Given the description of an element on the screen output the (x, y) to click on. 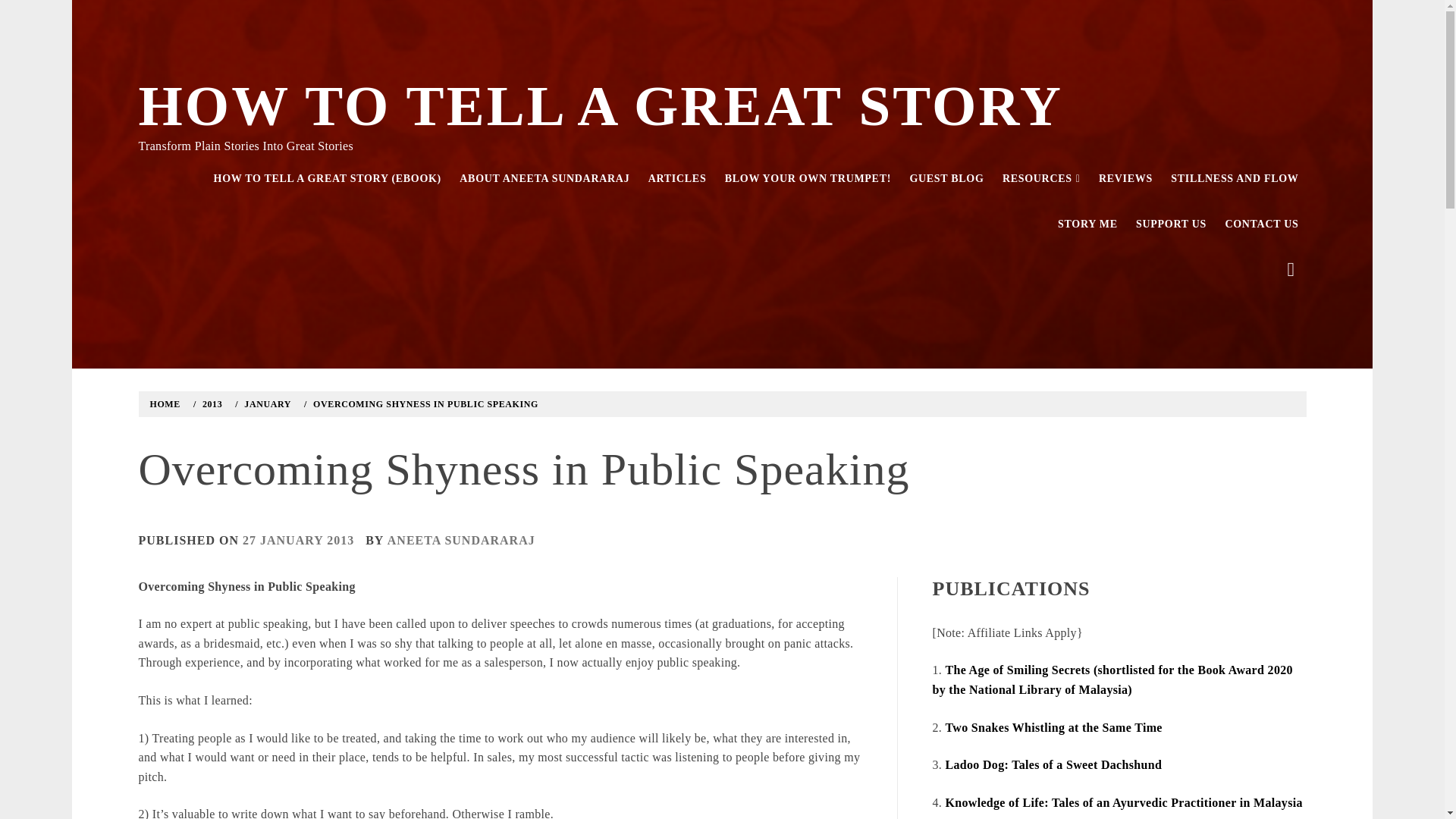
ABOUT ANEETA SUNDARARAJ (544, 178)
HOME (167, 403)
CONTACT US (1261, 224)
ANEETA SUNDARARAJ (461, 540)
Support Us (1171, 224)
RESOURCES (1040, 178)
REVIEWS (1125, 178)
STORY ME (1087, 224)
2013 (210, 403)
Resources  (1040, 178)
ARTICLES (677, 178)
Contact Us (1261, 224)
Stillness and Flow (1234, 178)
Story Asia (1087, 224)
Search (646, 37)
